Given the description of an element on the screen output the (x, y) to click on. 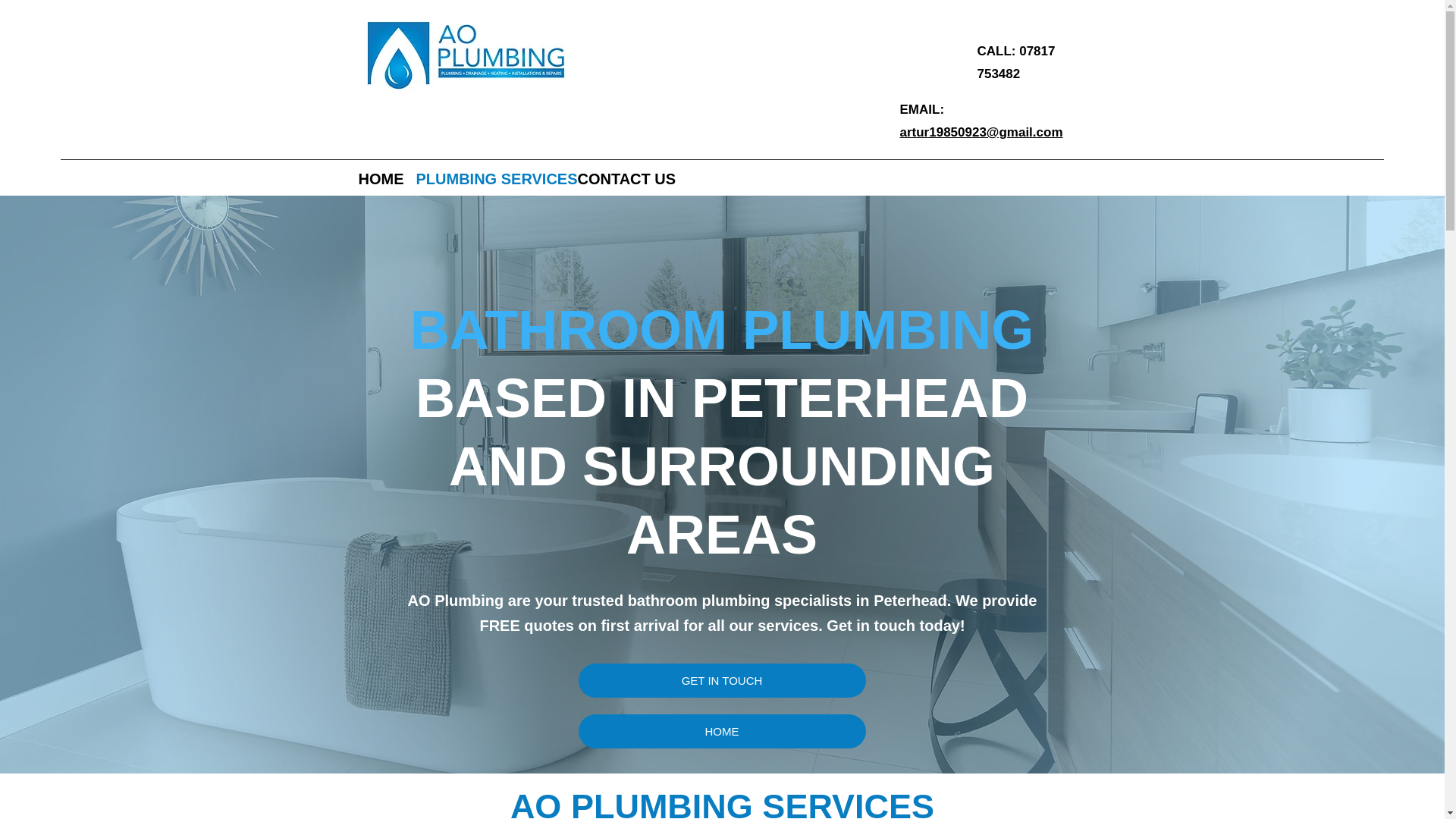
PLUMBING SERVICES (488, 177)
CONTACT US (624, 177)
HOME (378, 177)
GET IN TOUCH (721, 680)
HOME (721, 731)
